Given the description of an element on the screen output the (x, y) to click on. 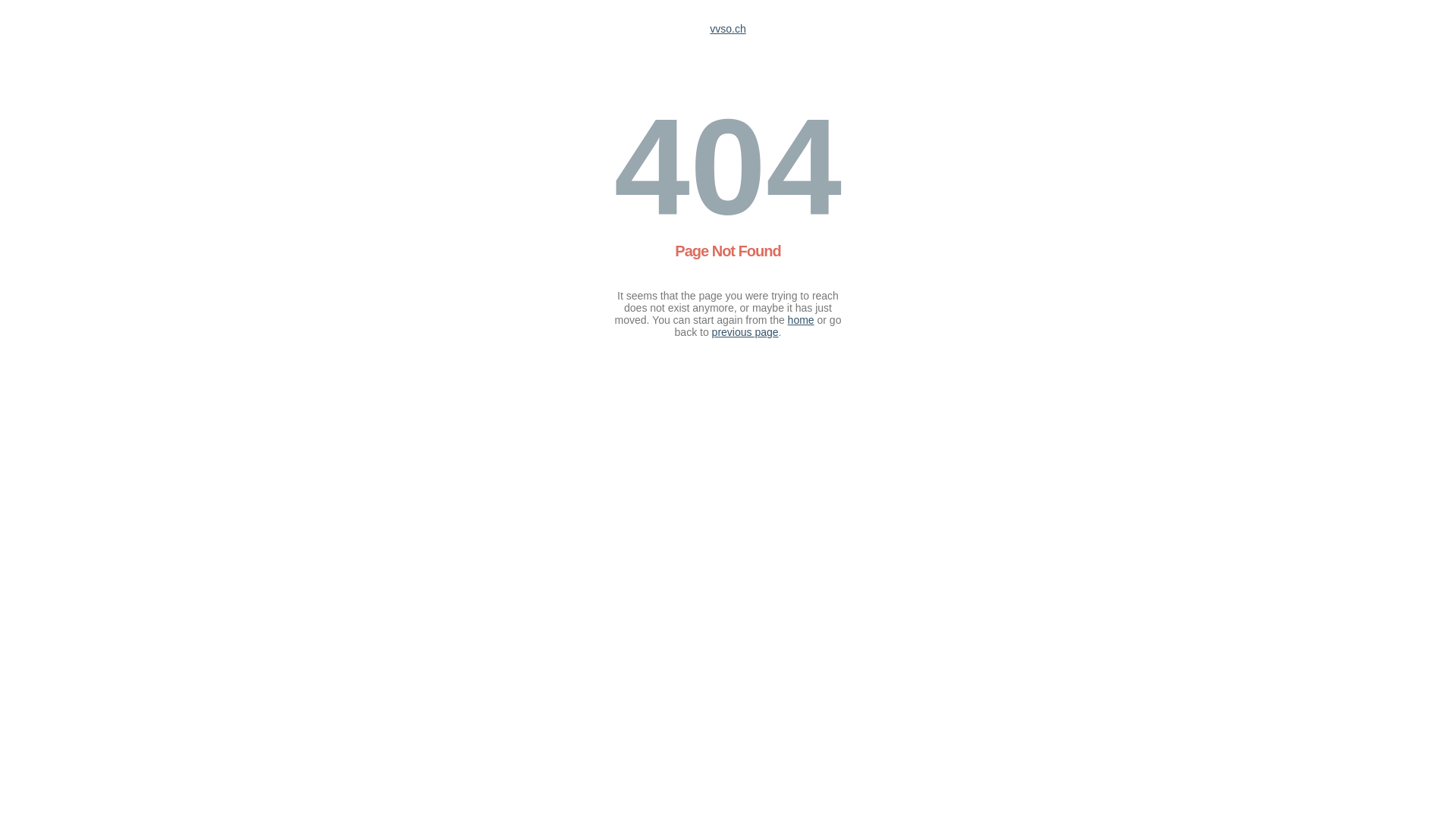
vvso.ch Element type: text (727, 28)
home Element type: text (800, 319)
previous page Element type: text (745, 332)
